Given the description of an element on the screen output the (x, y) to click on. 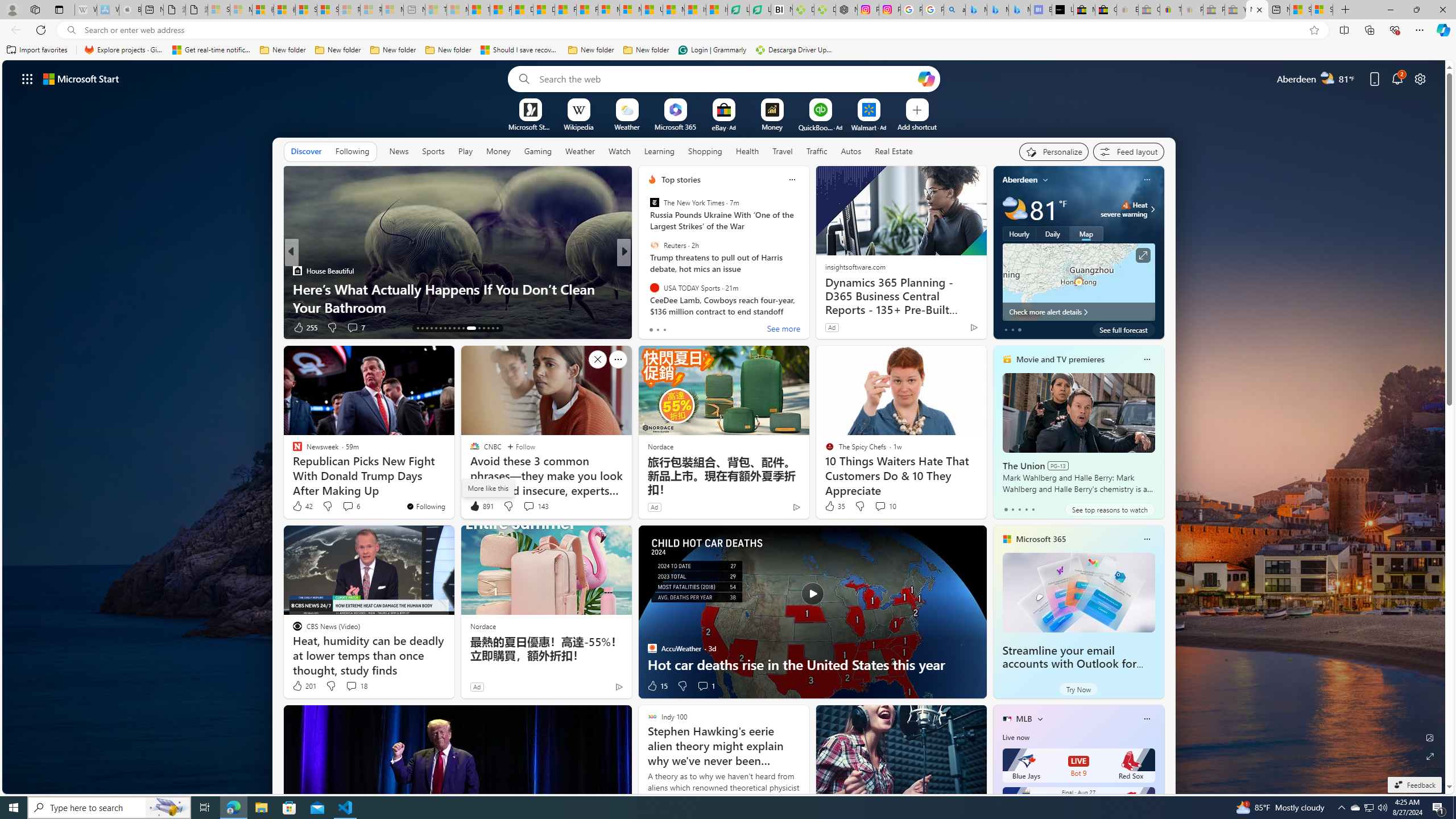
New folder (646, 49)
Aberdeen (1019, 179)
AutomationID: tab-30 (483, 328)
Shanghai, China hourly forecast | Microsoft Weather (1300, 9)
Hide this story (597, 359)
115 Like (654, 327)
App launcher (27, 78)
